Given the description of an element on the screen output the (x, y) to click on. 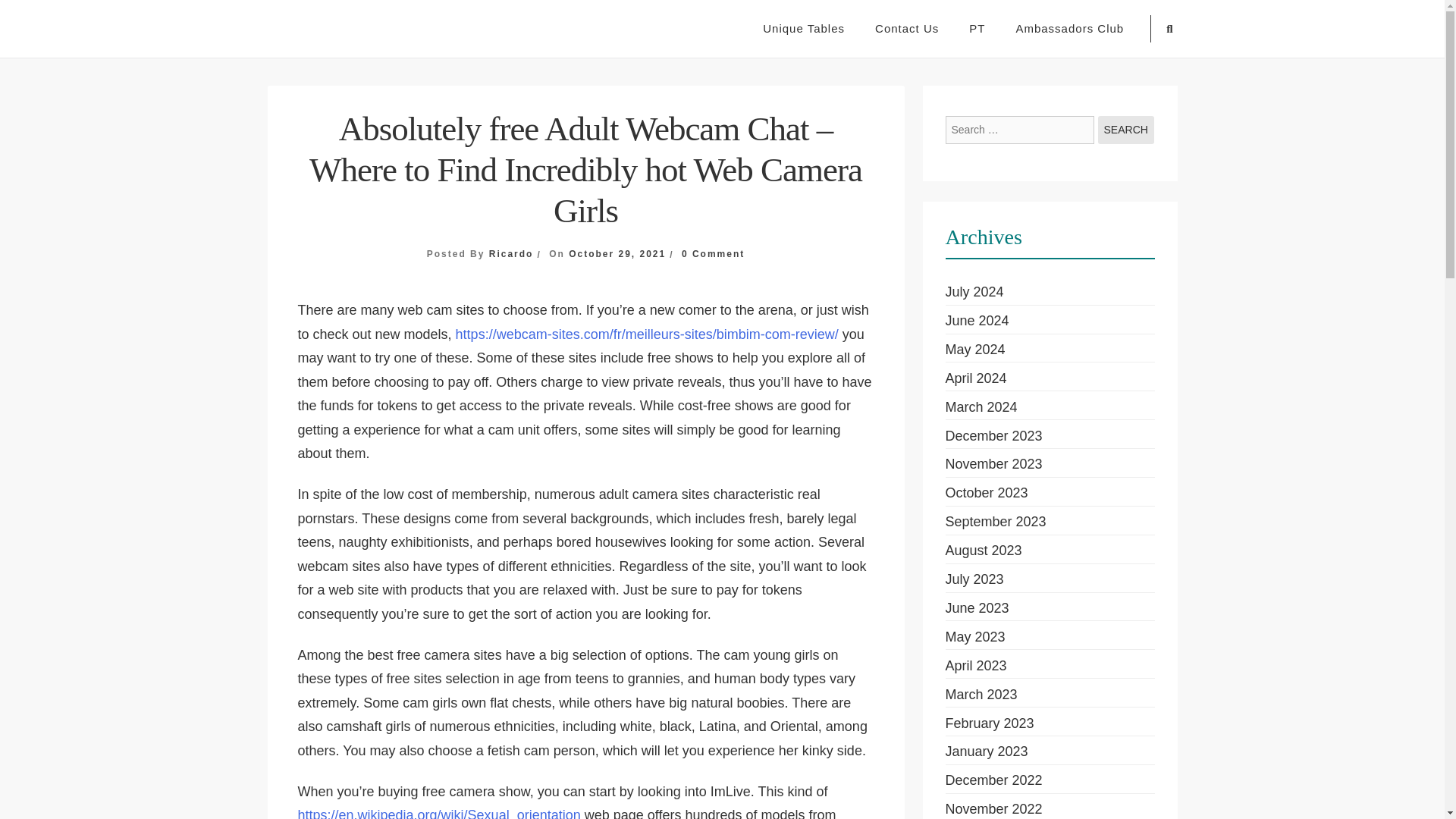
March 2023 (980, 694)
May 2024 (974, 349)
PT (976, 28)
September 2023 (994, 521)
July 2023 (973, 579)
February 2023 (988, 723)
Search (1125, 130)
October 29, 2021 (617, 253)
Ambassadors Club (1069, 28)
March 2024 (980, 406)
